Given the description of an element on the screen output the (x, y) to click on. 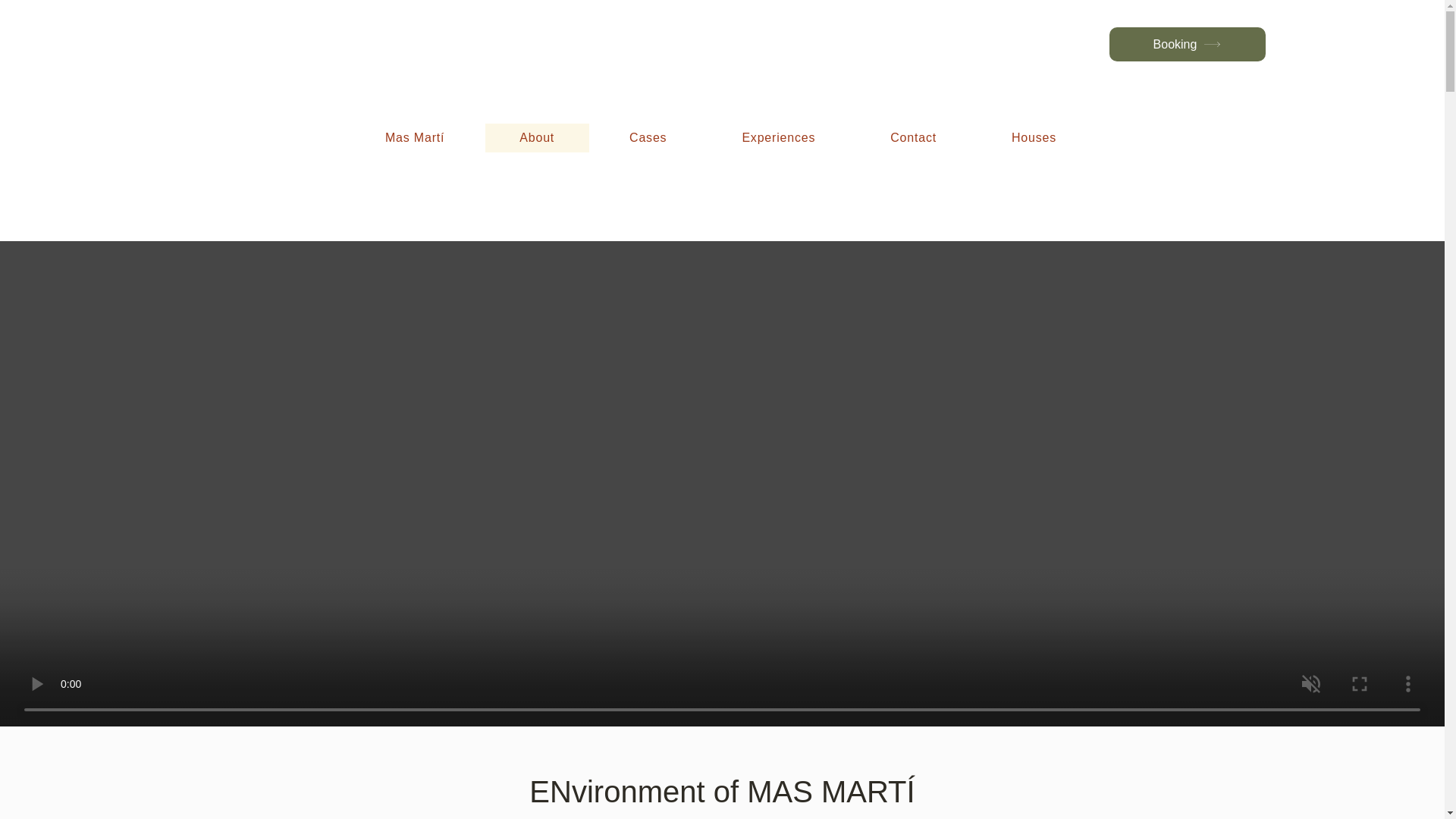
About (536, 137)
Houses (1033, 137)
Booking (1186, 44)
Cases (648, 137)
Contact (913, 137)
Experiences (778, 137)
